Given the description of an element on the screen output the (x, y) to click on. 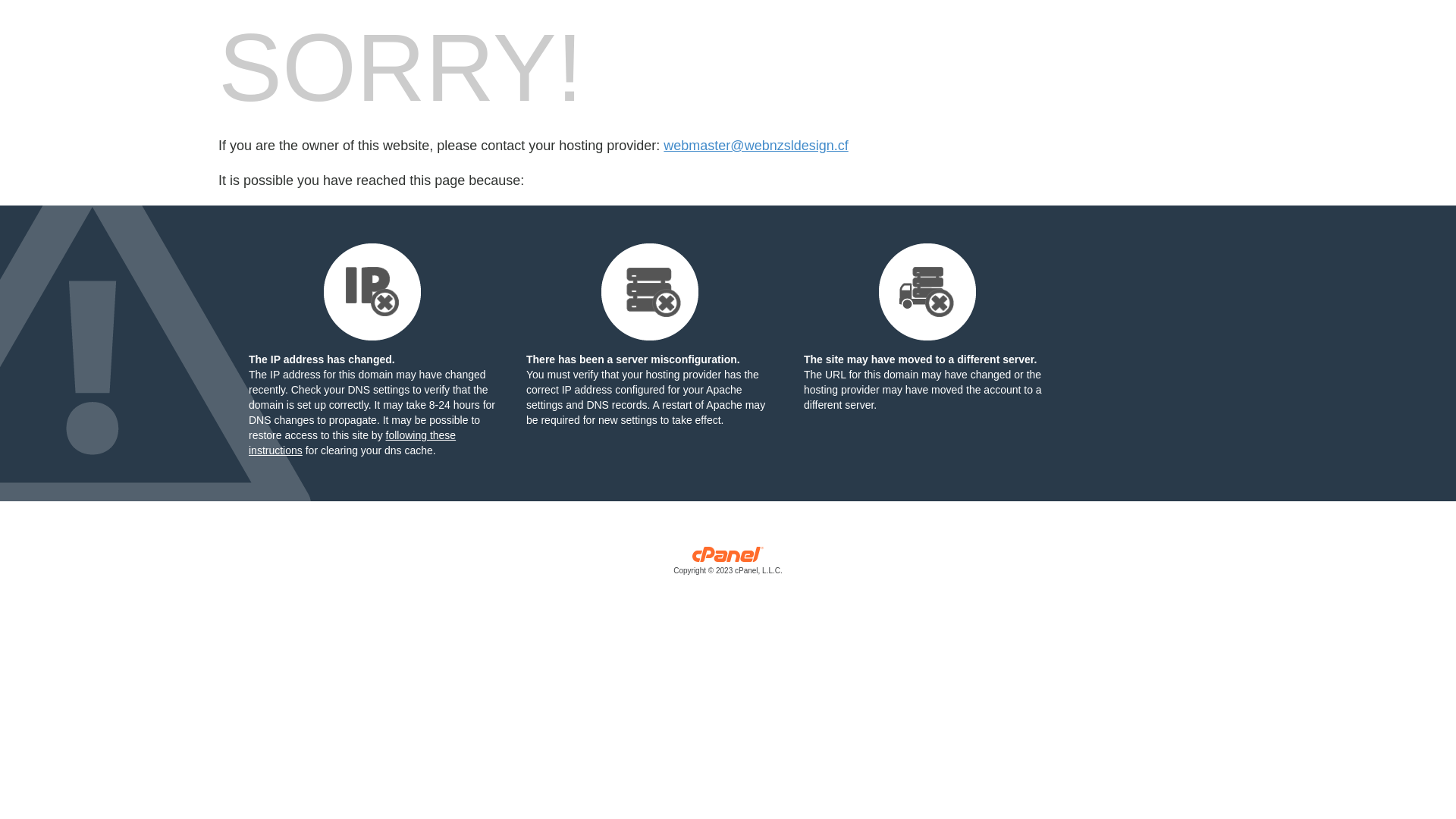
following these instructions Element type: text (351, 442)
webmaster@webnzsldesign.cf Element type: text (755, 145)
